Given the description of an element on the screen output the (x, y) to click on. 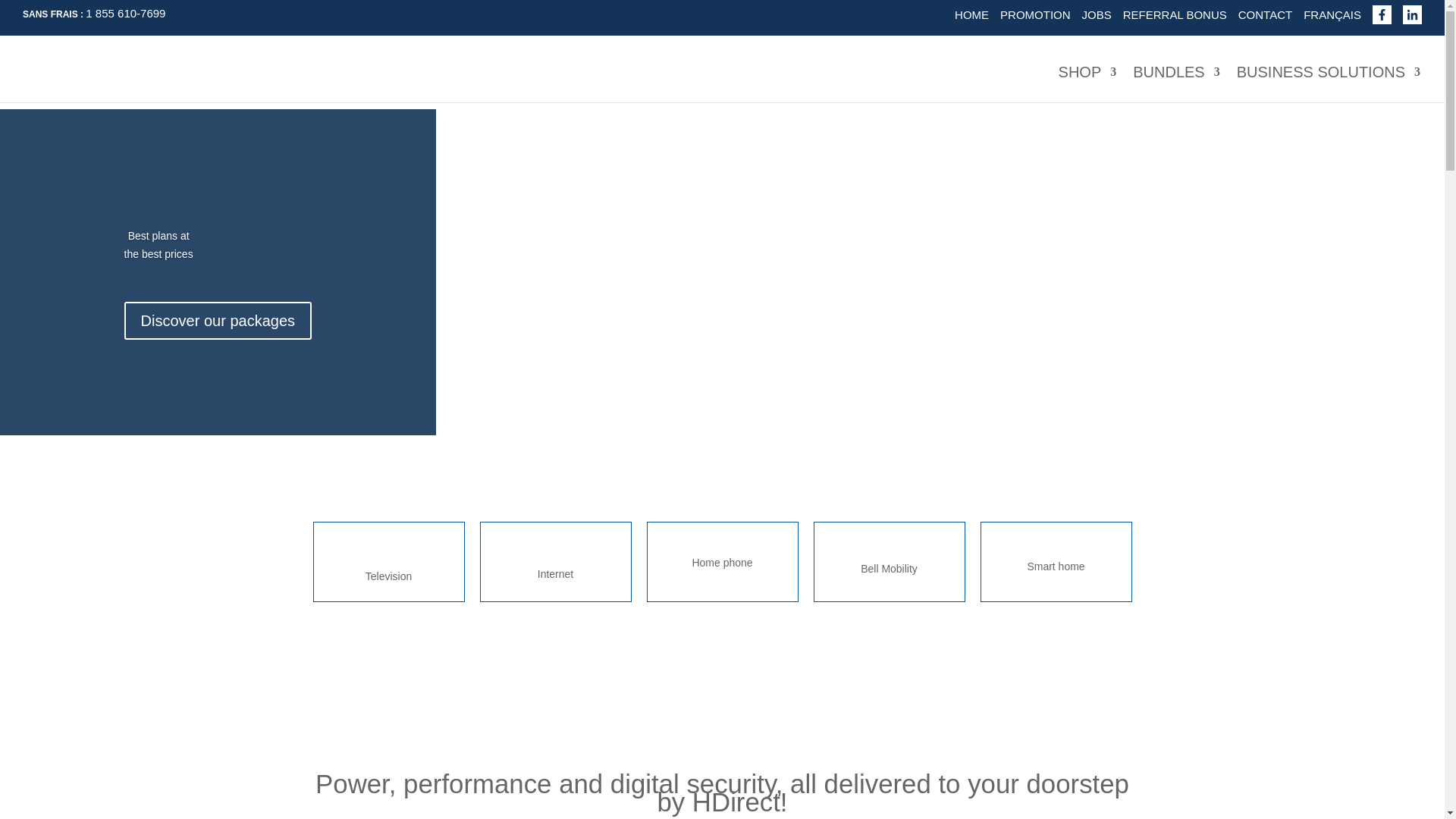
PROMOTION (1035, 14)
1 855 610-7699 (125, 12)
CONTACT (1265, 14)
HOME (971, 14)
REFERRAL BONUS (1174, 14)
BUSINESS SOLUTIONS (1328, 84)
SHOP (1087, 84)
JOBS (1096, 14)
BUNDLES (1176, 84)
